Given the description of an element on the screen output the (x, y) to click on. 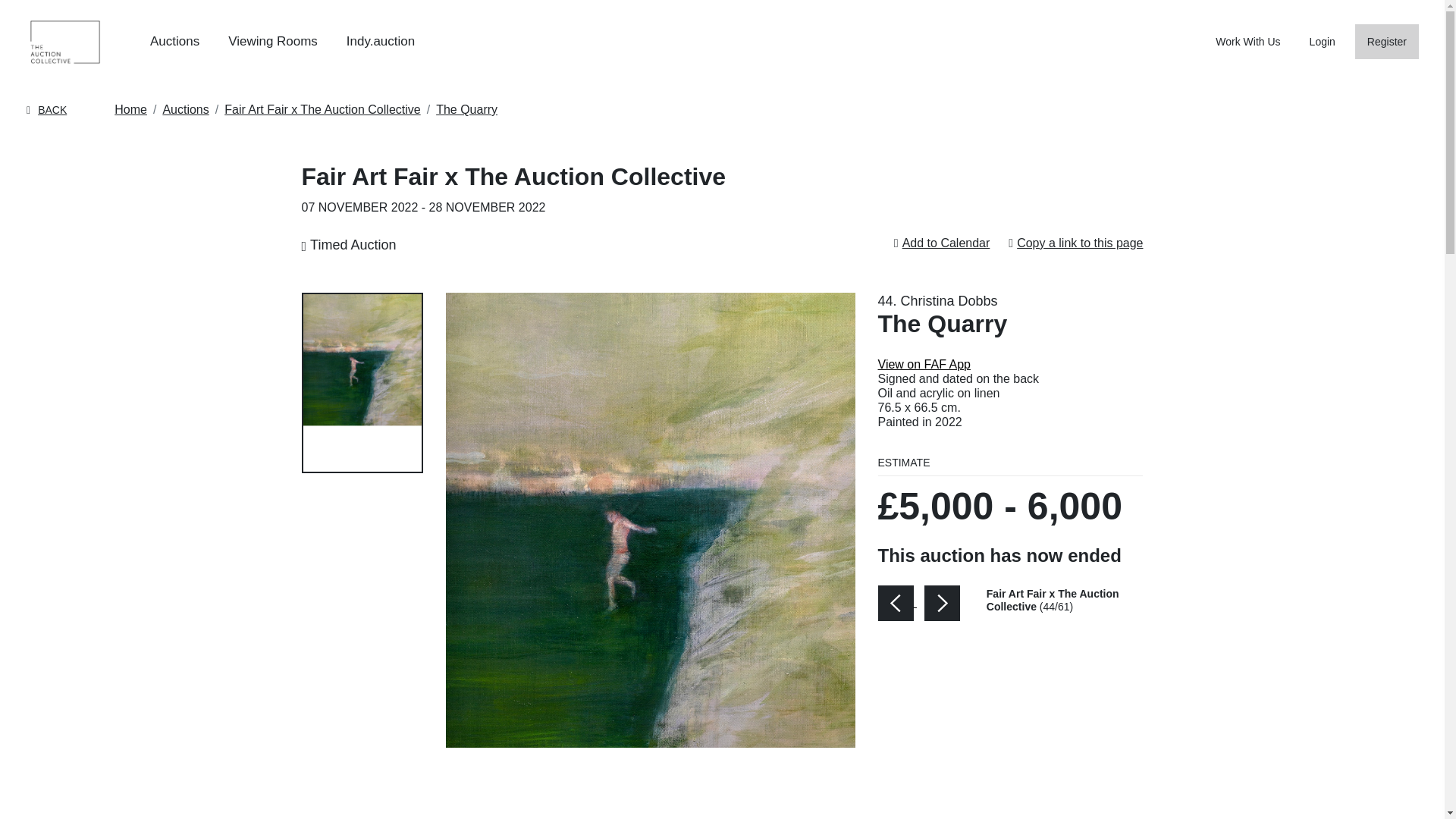
Work With Us (1247, 41)
Auctions (184, 109)
Home (131, 109)
Register (1386, 41)
Auctions (174, 41)
Add to Calendar (946, 242)
BACK (46, 110)
Copy a link to this page (1079, 242)
Viewing Rooms (272, 41)
View on FAF App (924, 364)
